Given the description of an element on the screen output the (x, y) to click on. 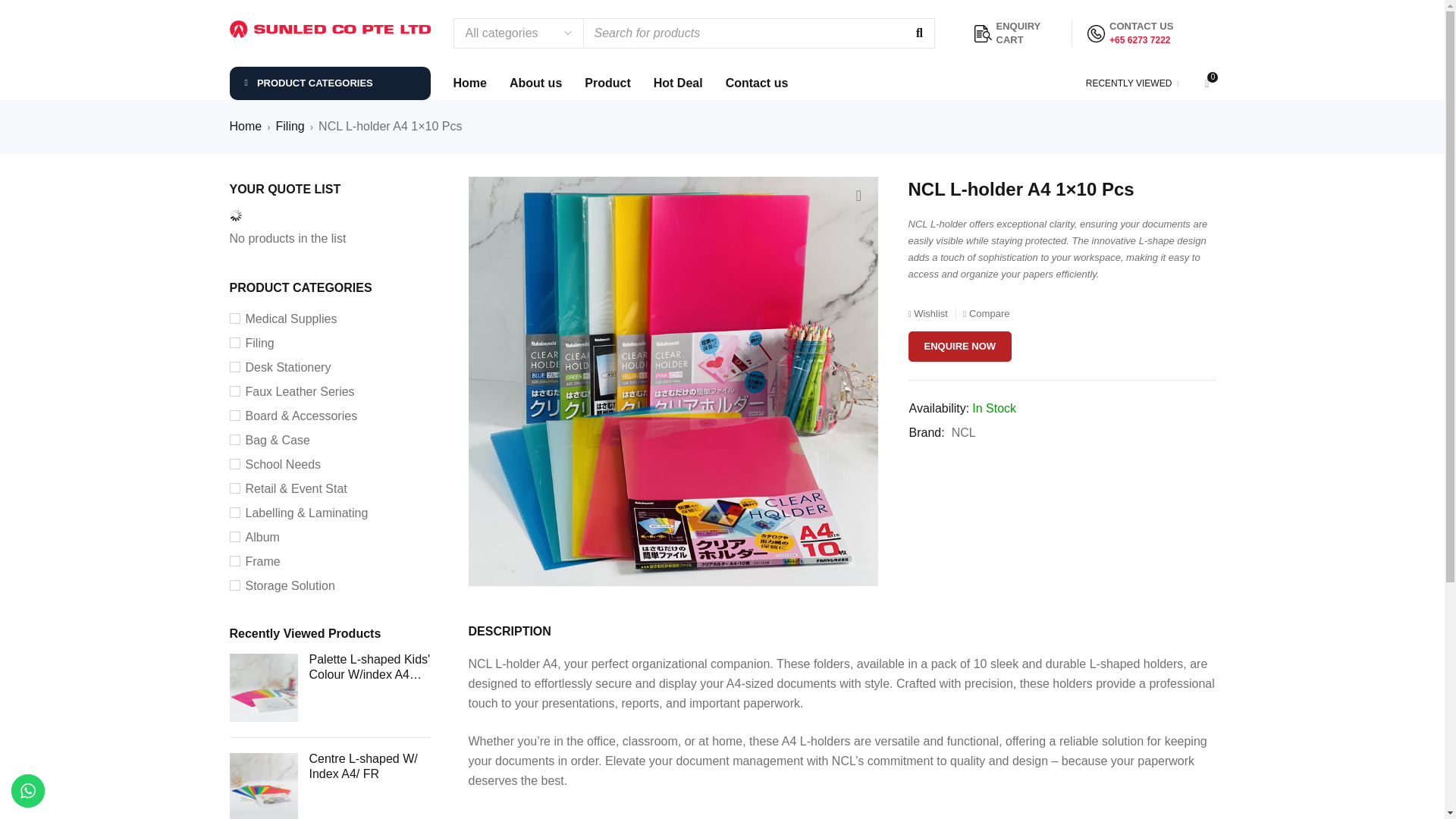
Search (918, 32)
